Given the description of an element on the screen output the (x, y) to click on. 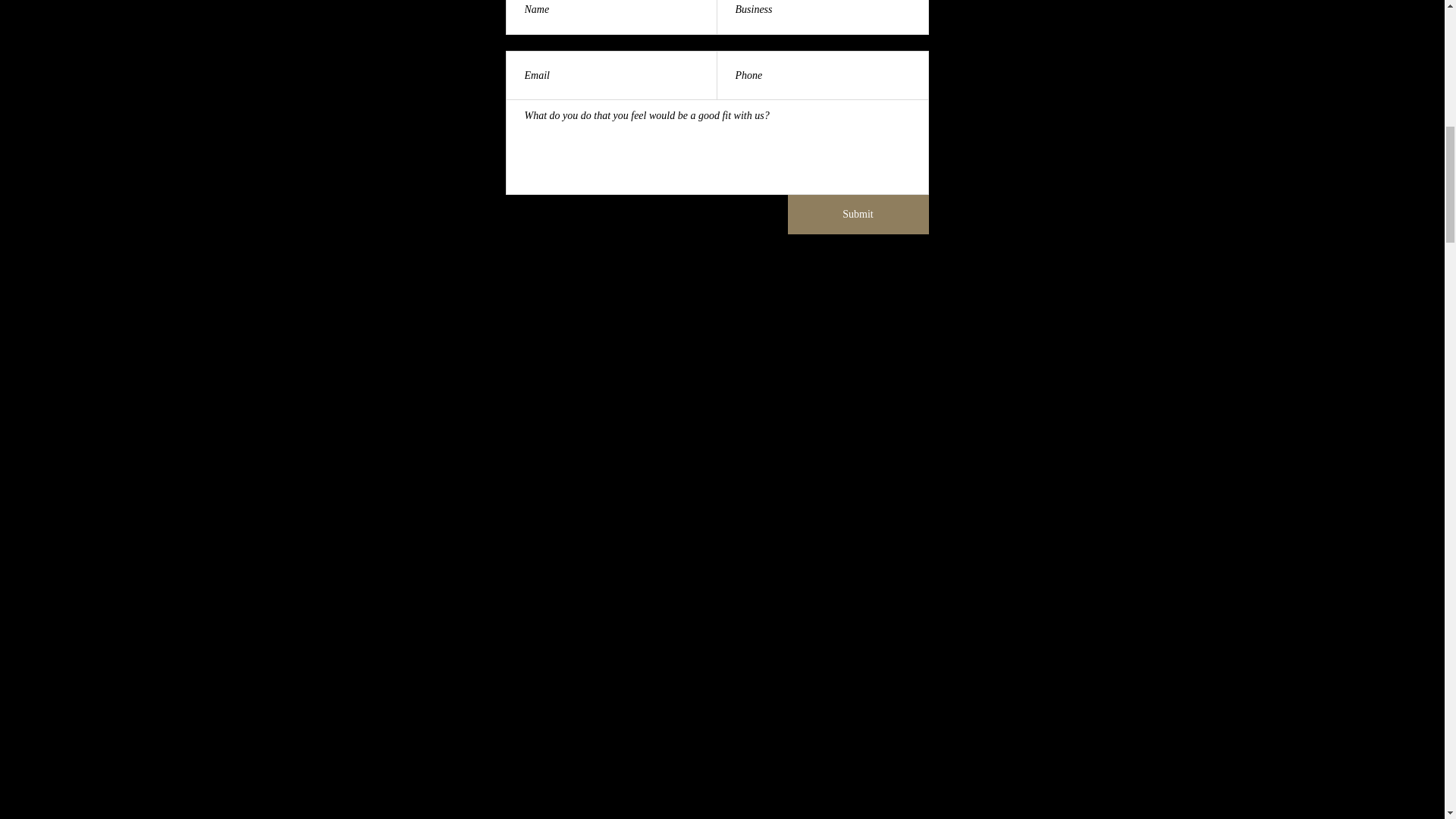
Submit (857, 214)
